Given the description of an element on the screen output the (x, y) to click on. 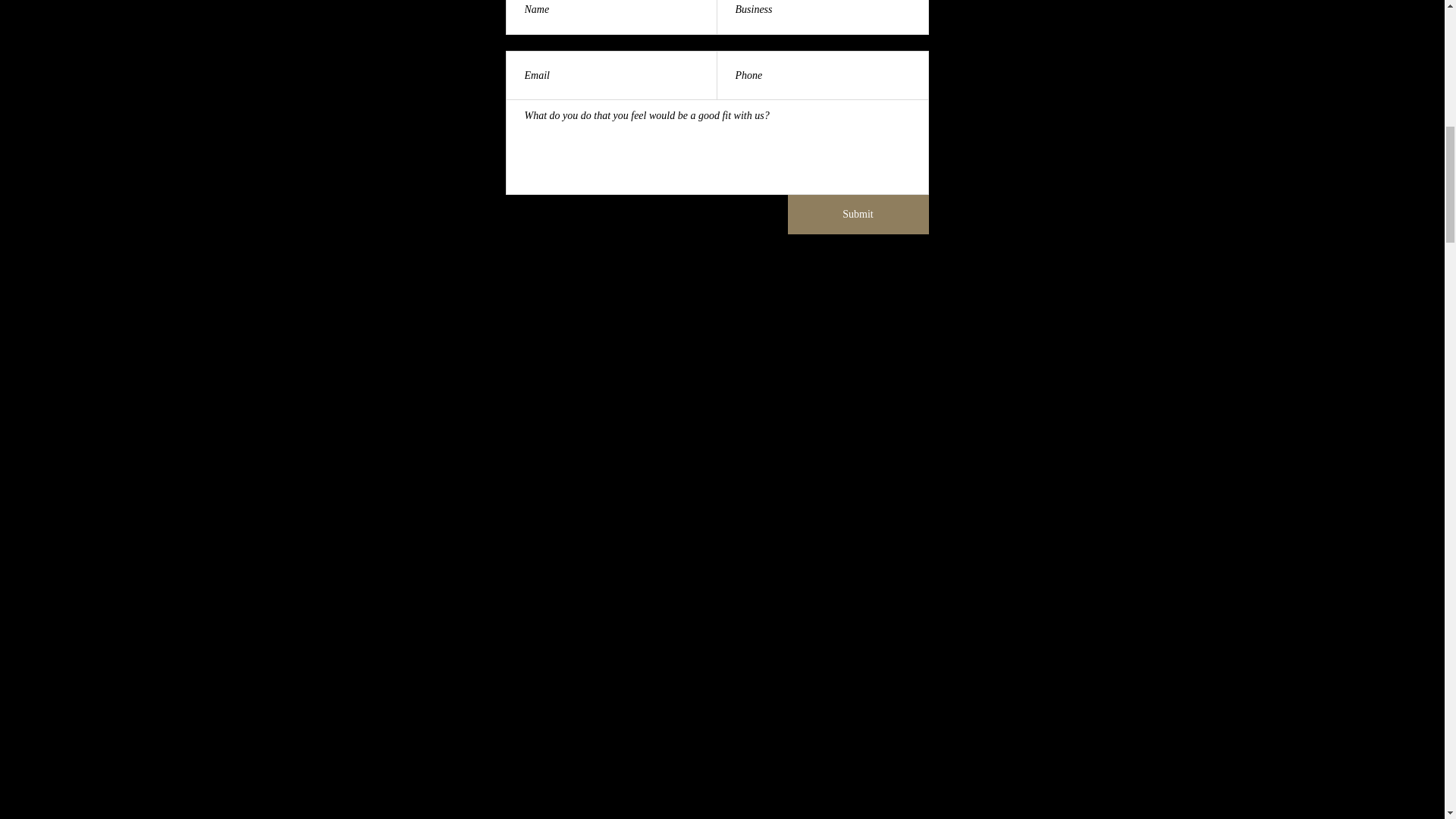
Submit (857, 214)
